Given the description of an element on the screen output the (x, y) to click on. 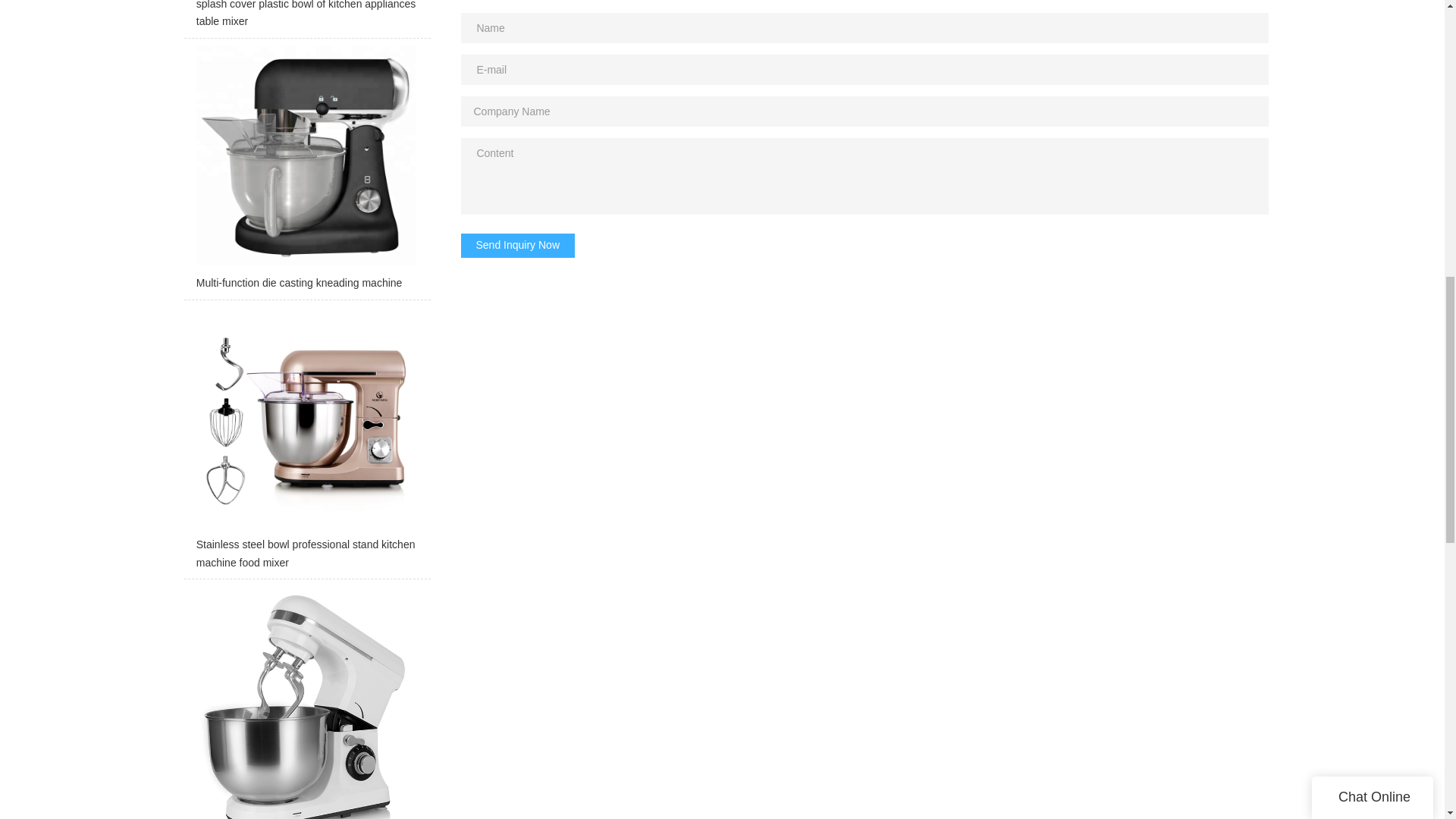
Send Inquiry Now (518, 245)
Multi-function die casting kneading machine (306, 172)
